Given the description of an element on the screen output the (x, y) to click on. 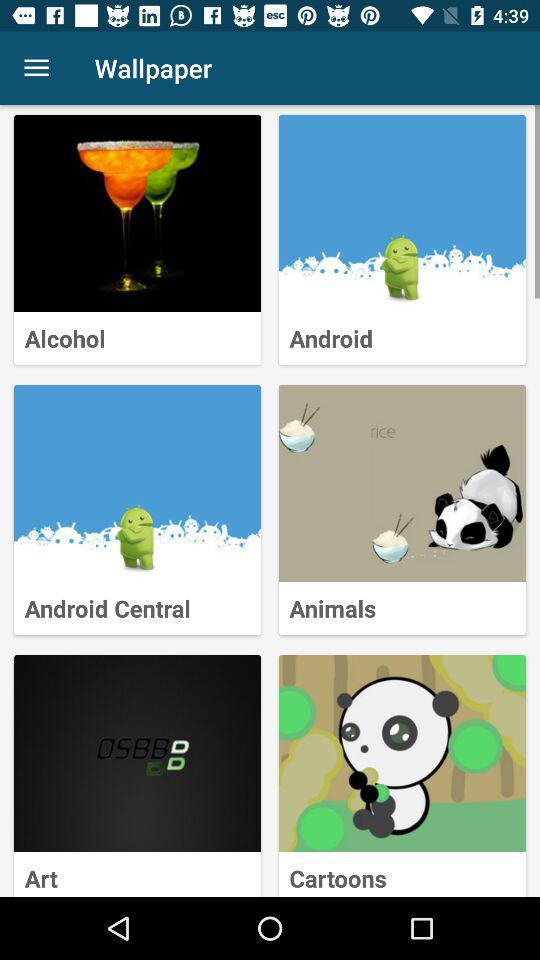
view an alcohol wallpaper (137, 213)
